Given the description of an element on the screen output the (x, y) to click on. 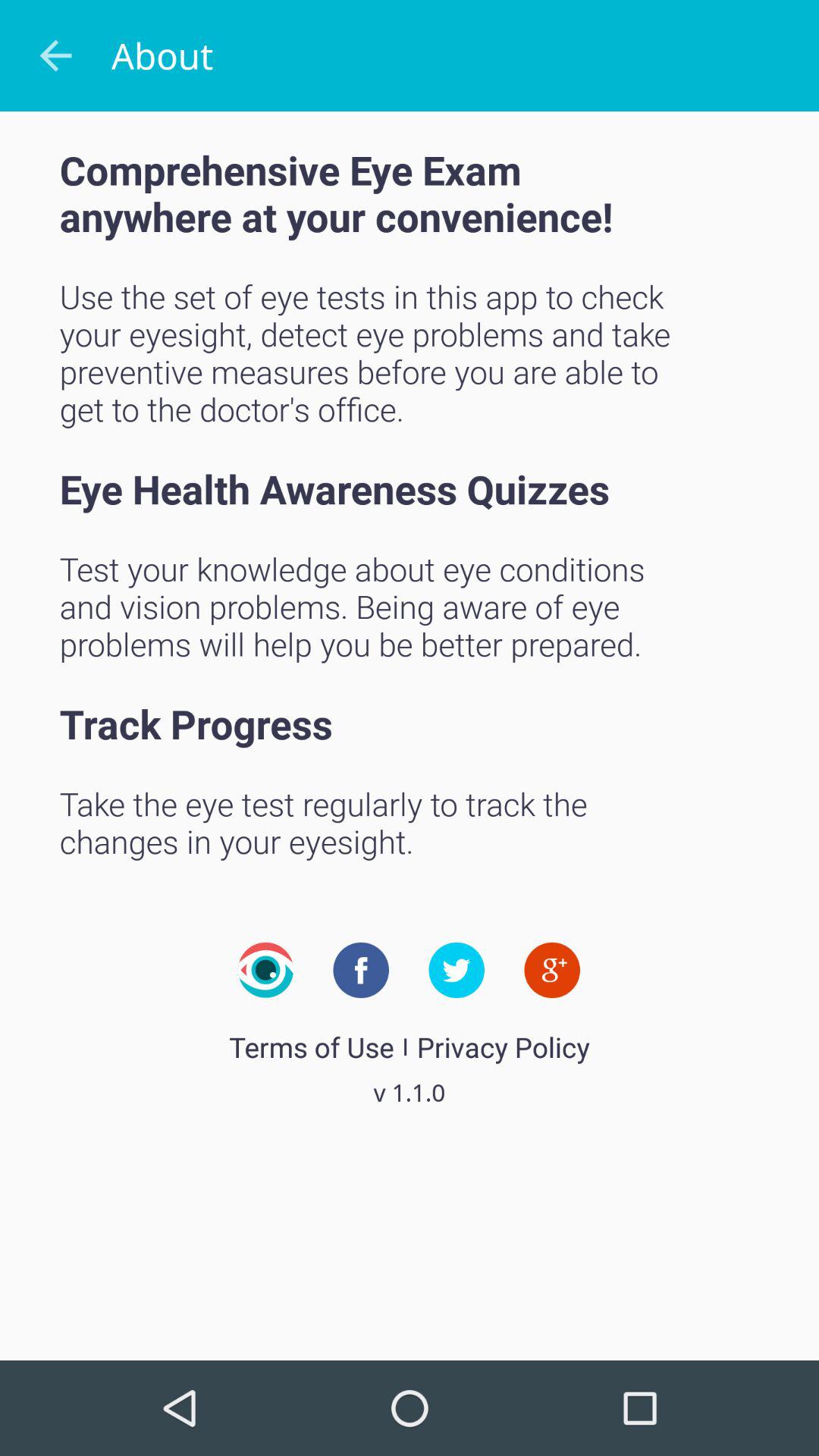
open icon above the comprehensive eye exam item (55, 55)
